Given the description of an element on the screen output the (x, y) to click on. 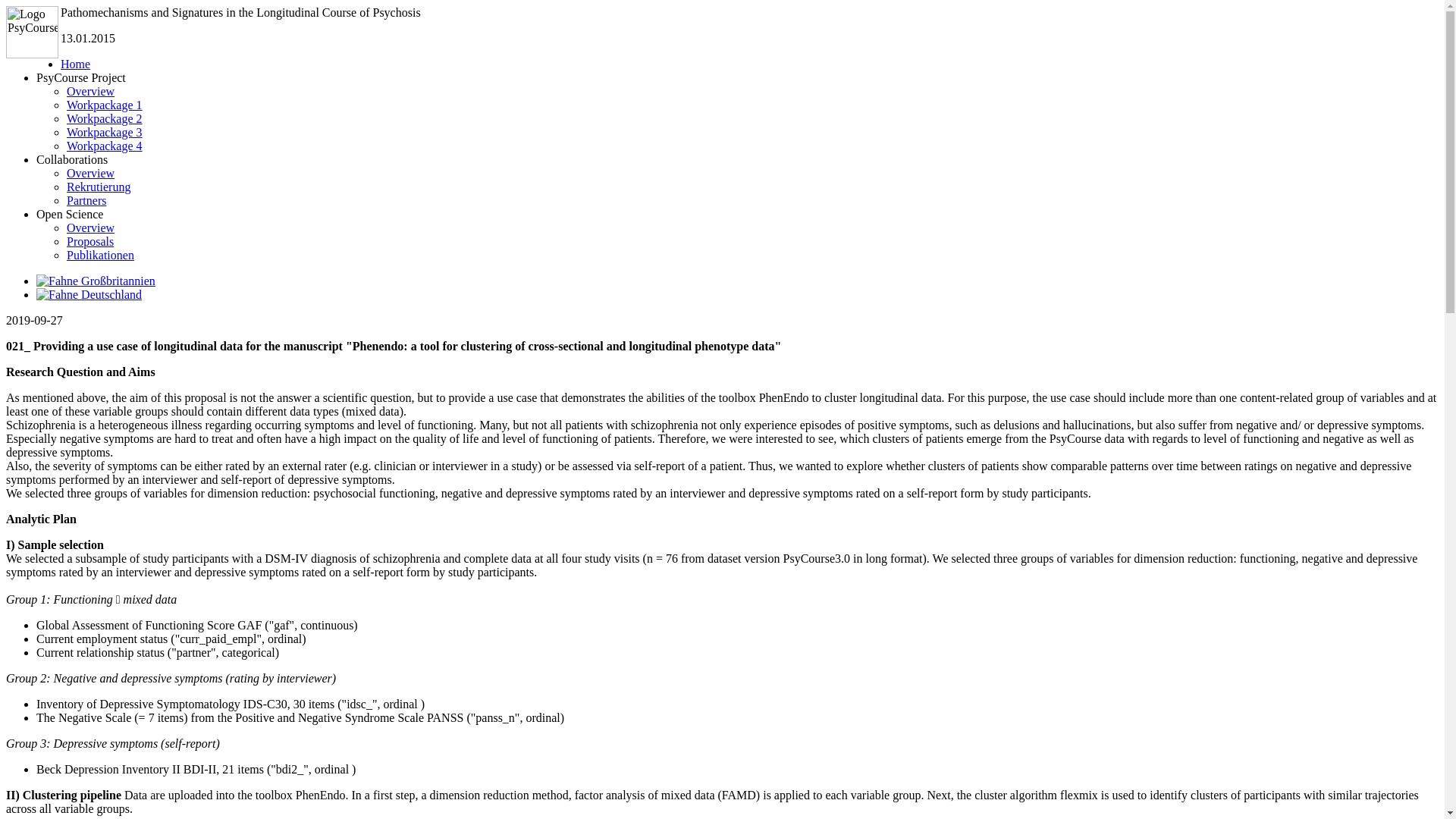
Workpackage 4 (104, 145)
Home (75, 63)
PsyCourse Project (80, 77)
Overview (90, 173)
Collaborations (71, 159)
Partners (86, 200)
Open Science (69, 214)
Publikationen (99, 254)
Proposals (89, 241)
Rekrutierung (98, 186)
Workpackage 2 (104, 118)
Overview (90, 227)
Workpackage 1 (104, 104)
Overview (90, 91)
Workpackage 3 (104, 132)
